Given the description of an element on the screen output the (x, y) to click on. 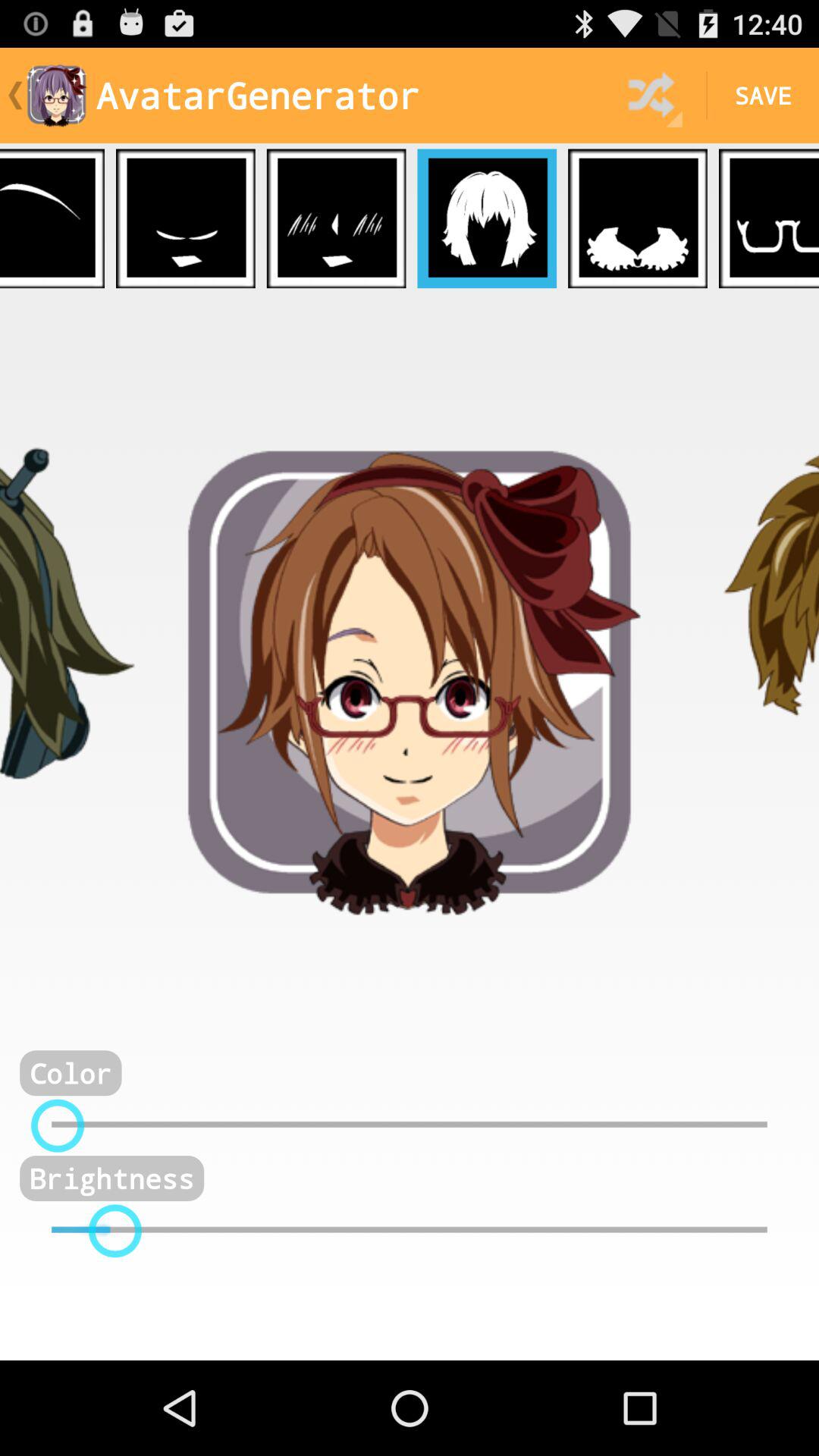
choose outfit (637, 218)
